Given the description of an element on the screen output the (x, y) to click on. 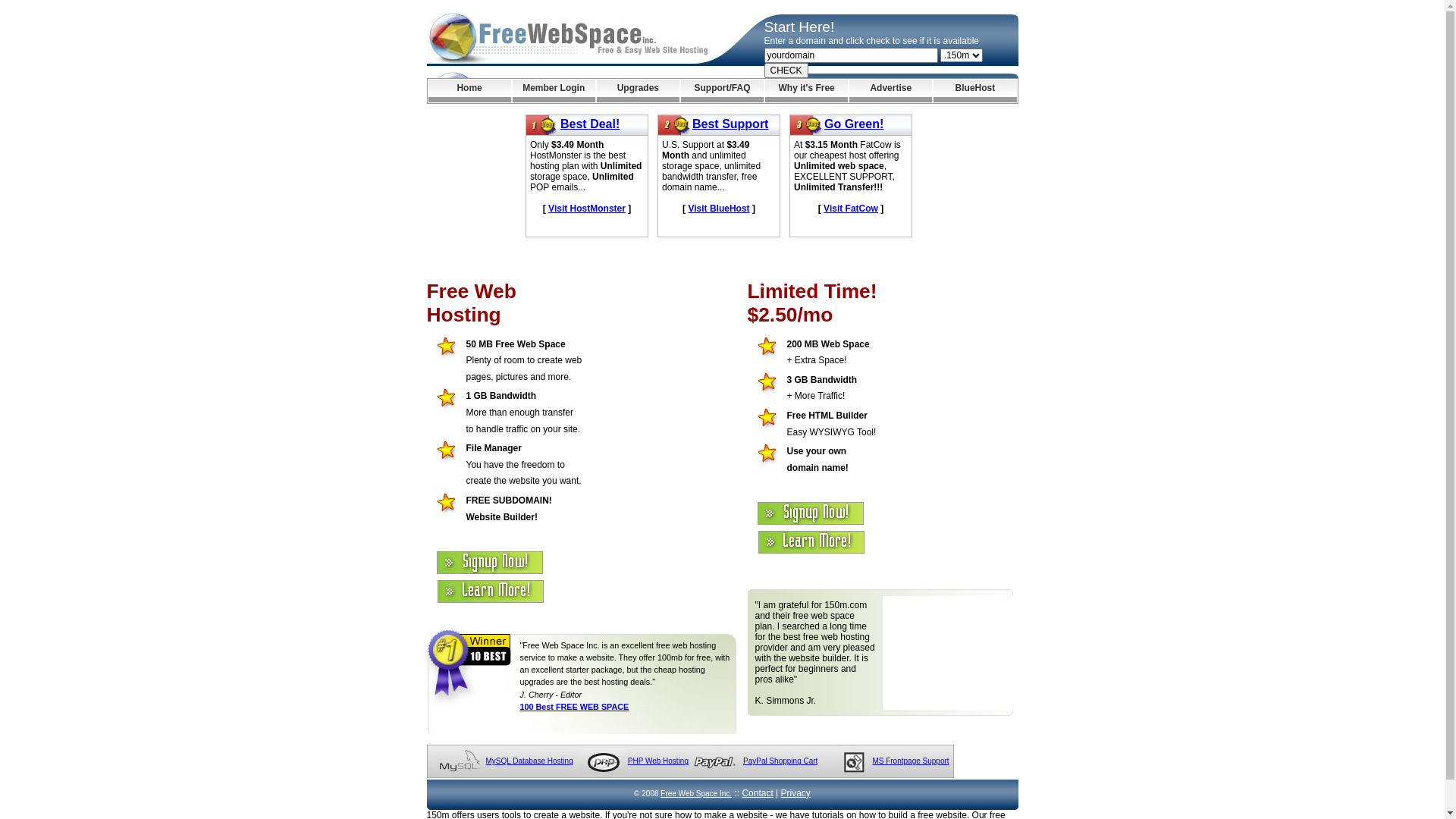
MySQL Database Hosting Element type: text (528, 760)
Upgrades Element type: text (637, 90)
Why it's Free Element type: text (806, 90)
Contact Element type: text (756, 792)
Support/FAQ Element type: text (721, 90)
Privacy Element type: text (795, 792)
Member Login Element type: text (553, 90)
100 Best FREE WEB SPACE Element type: text (574, 706)
MS Frontpage Support Element type: text (910, 760)
CHECK Element type: text (786, 70)
Advertise Element type: text (890, 90)
BlueHost Element type: text (974, 90)
Home Element type: text (468, 90)
PHP Web Hosting Element type: text (657, 760)
PayPal Shopping Cart Element type: text (780, 760)
Free Web Space Inc. Element type: text (695, 793)
